Given the description of an element on the screen output the (x, y) to click on. 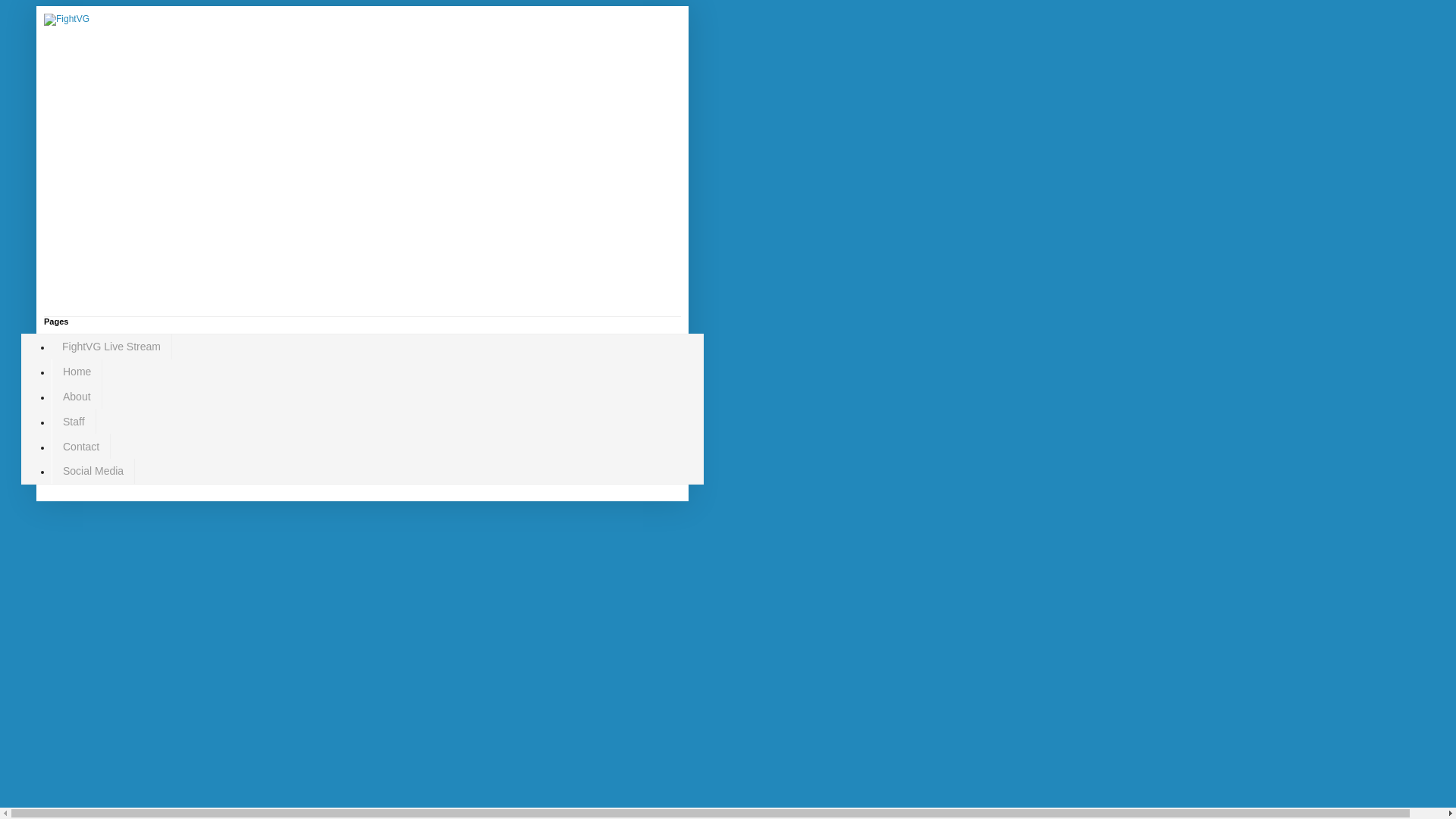
About (75, 396)
FightVG Live Stream (110, 346)
Contact (80, 446)
Staff (73, 421)
Home (75, 371)
Social Media (92, 471)
